Given the description of an element on the screen output the (x, y) to click on. 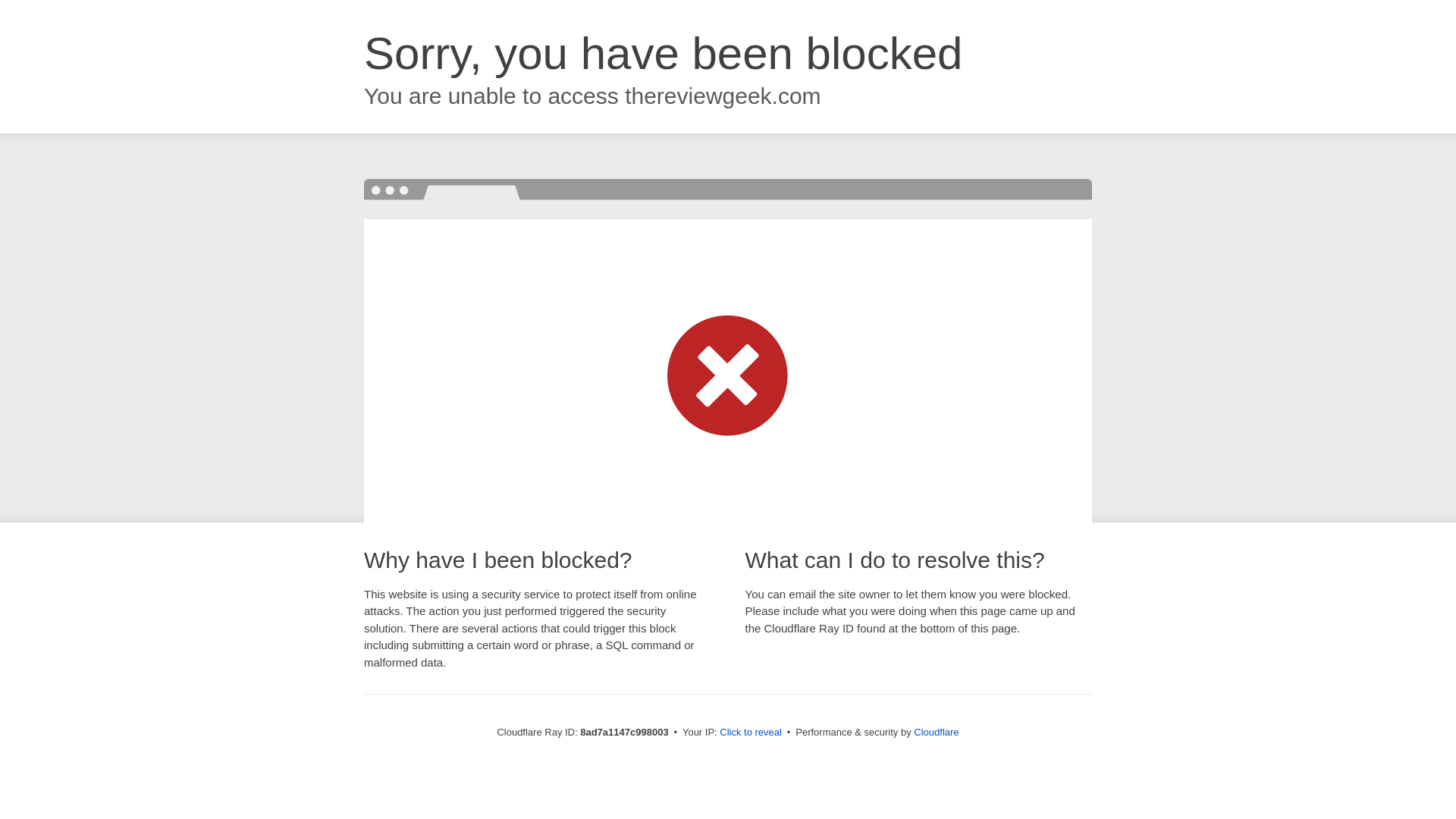
Click to reveal (750, 732)
Cloudflare (936, 731)
